Given the description of an element on the screen output the (x, y) to click on. 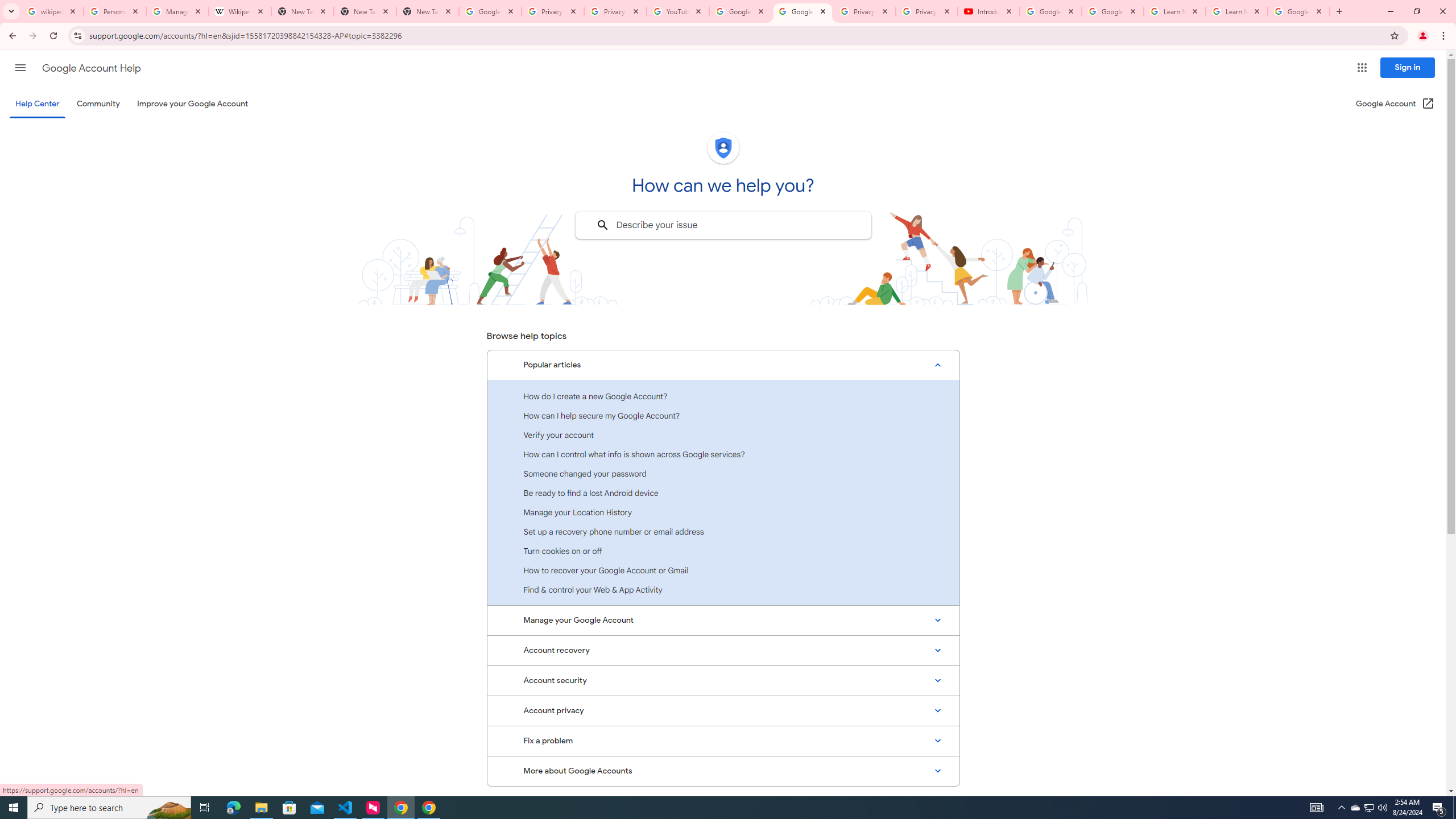
Google Drive: Sign-in (490, 11)
Manage your Google Account (722, 620)
Help Center (36, 103)
Google Account (1298, 11)
Someone changed your password (722, 473)
Main menu (20, 67)
Manage your Location History - Google Search Help (177, 11)
